Given the description of an element on the screen output the (x, y) to click on. 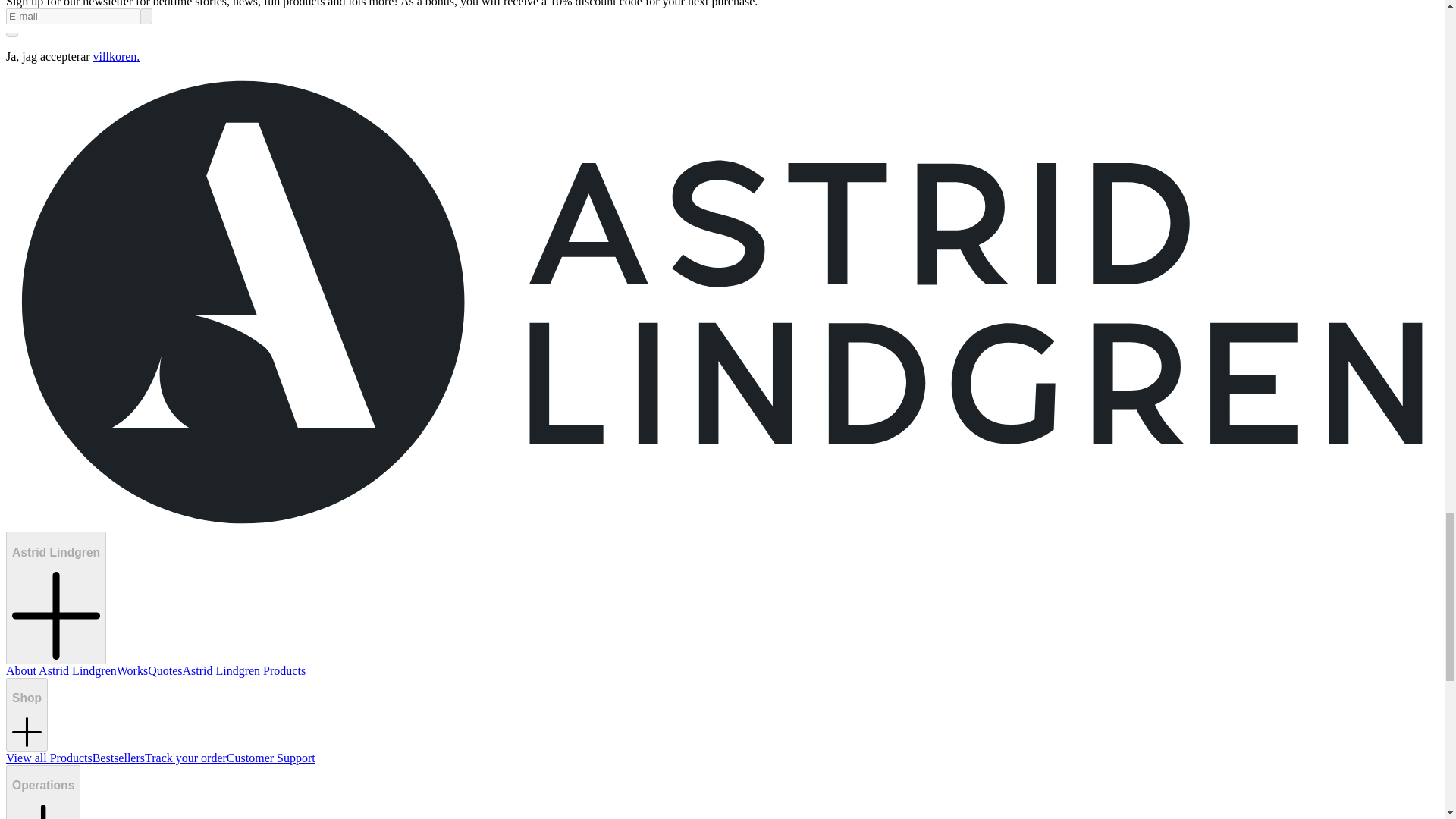
Astrid Lindgren Products (243, 670)
View all Products (49, 757)
Customer Support (271, 757)
Quotes (165, 670)
Works (132, 670)
Operations (42, 791)
About Astrid Lindgren (60, 670)
Track your order (185, 757)
Bestsellers (118, 757)
villkoren (114, 56)
